Given the description of an element on the screen output the (x, y) to click on. 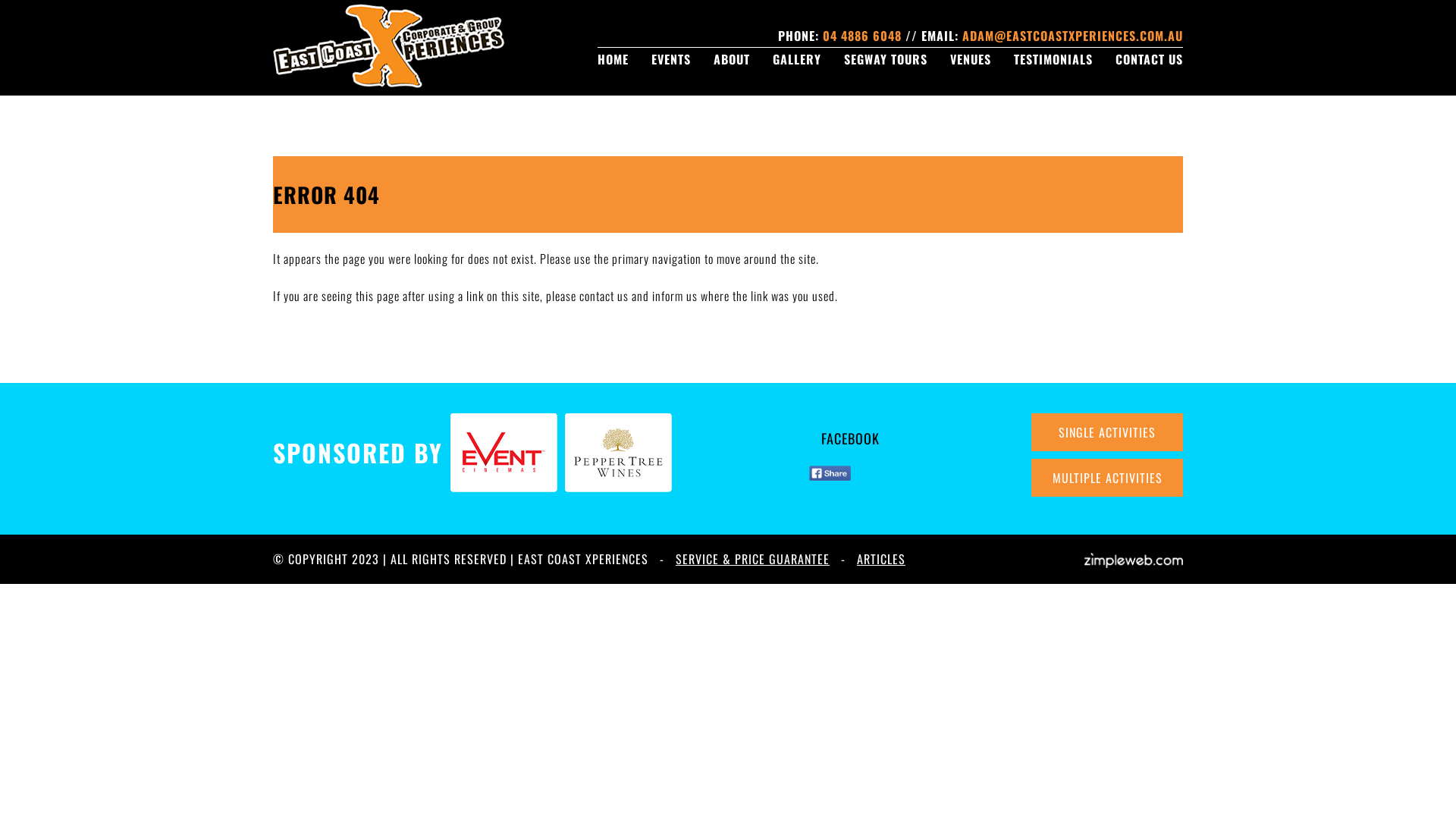
ABOUT Element type: text (731, 58)
TESTIMONIALS Element type: text (1052, 58)
VENUES Element type: text (970, 58)
SERVICE & PRICE GUARANTEE Element type: text (752, 558)
04 4886 6048 Element type: text (861, 35)
CONTACT US Element type: text (1149, 58)
ARTICLES Element type: text (880, 558)
GALLERY Element type: text (796, 58)
SEGWAY TOURS Element type: text (885, 58)
ADAM@EASTCOASTXPERIENCES.COM.AU Element type: text (1072, 35)
HOME Element type: text (612, 58)
Facebook share Element type: hover (829, 472)
EVENTS Element type: text (670, 58)
MULTIPLE ACTIVITIES Element type: text (1107, 477)
SINGLE ACTIVITIES Element type: text (1107, 432)
